Given the description of an element on the screen output the (x, y) to click on. 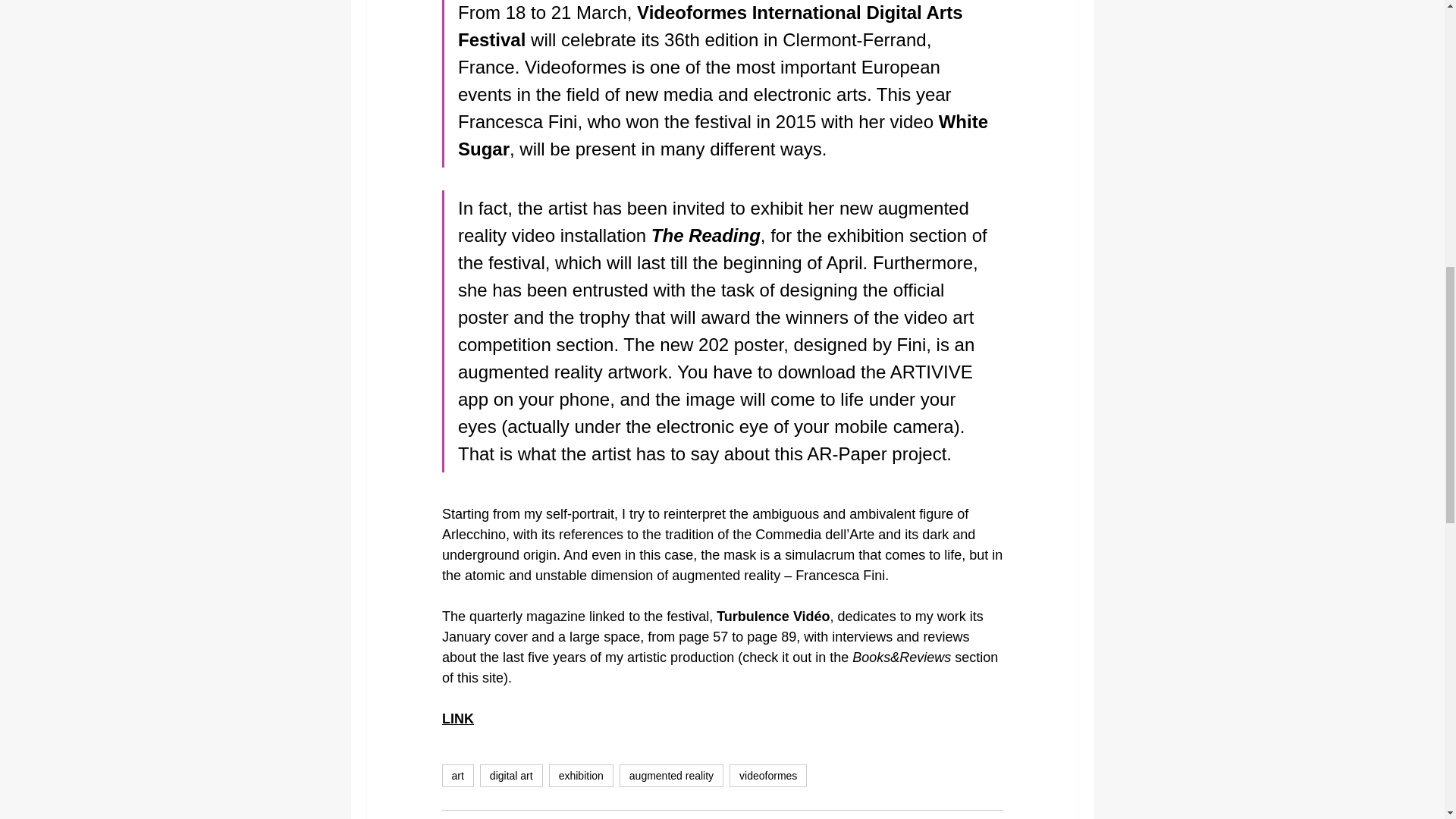
art (457, 775)
LINK (457, 718)
digital art (511, 775)
